Given the description of an element on the screen output the (x, y) to click on. 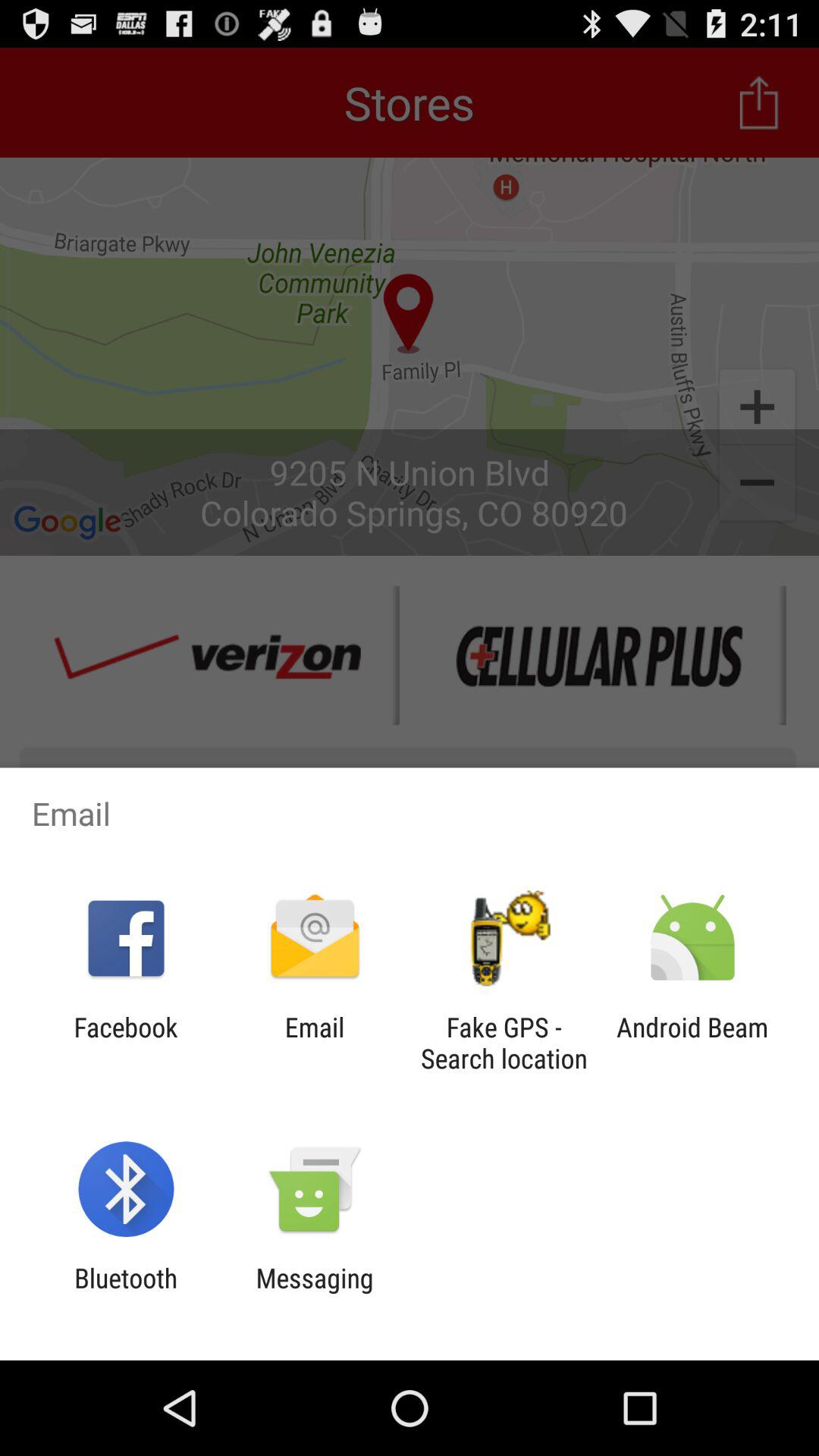
flip until facebook (125, 1042)
